Given the description of an element on the screen output the (x, y) to click on. 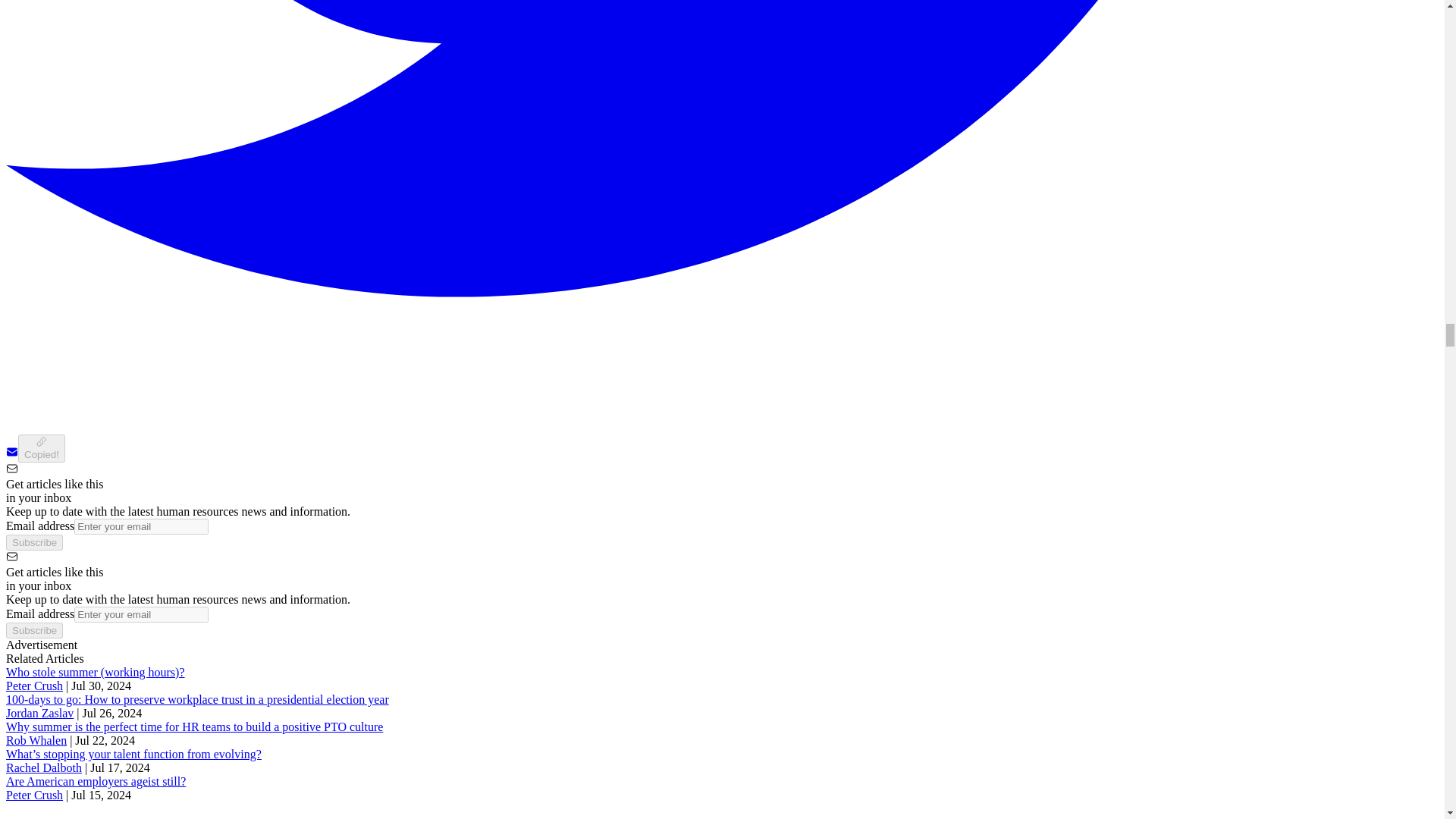
Subscribe (33, 630)
Subscribe (33, 542)
Are American employers ageist still? (95, 780)
Jordan Zaslav (39, 712)
Peter Crush (33, 685)
Peter Crush (33, 794)
Rob Whalen (35, 739)
Rachel Dalboth (43, 767)
